Given the description of an element on the screen output the (x, y) to click on. 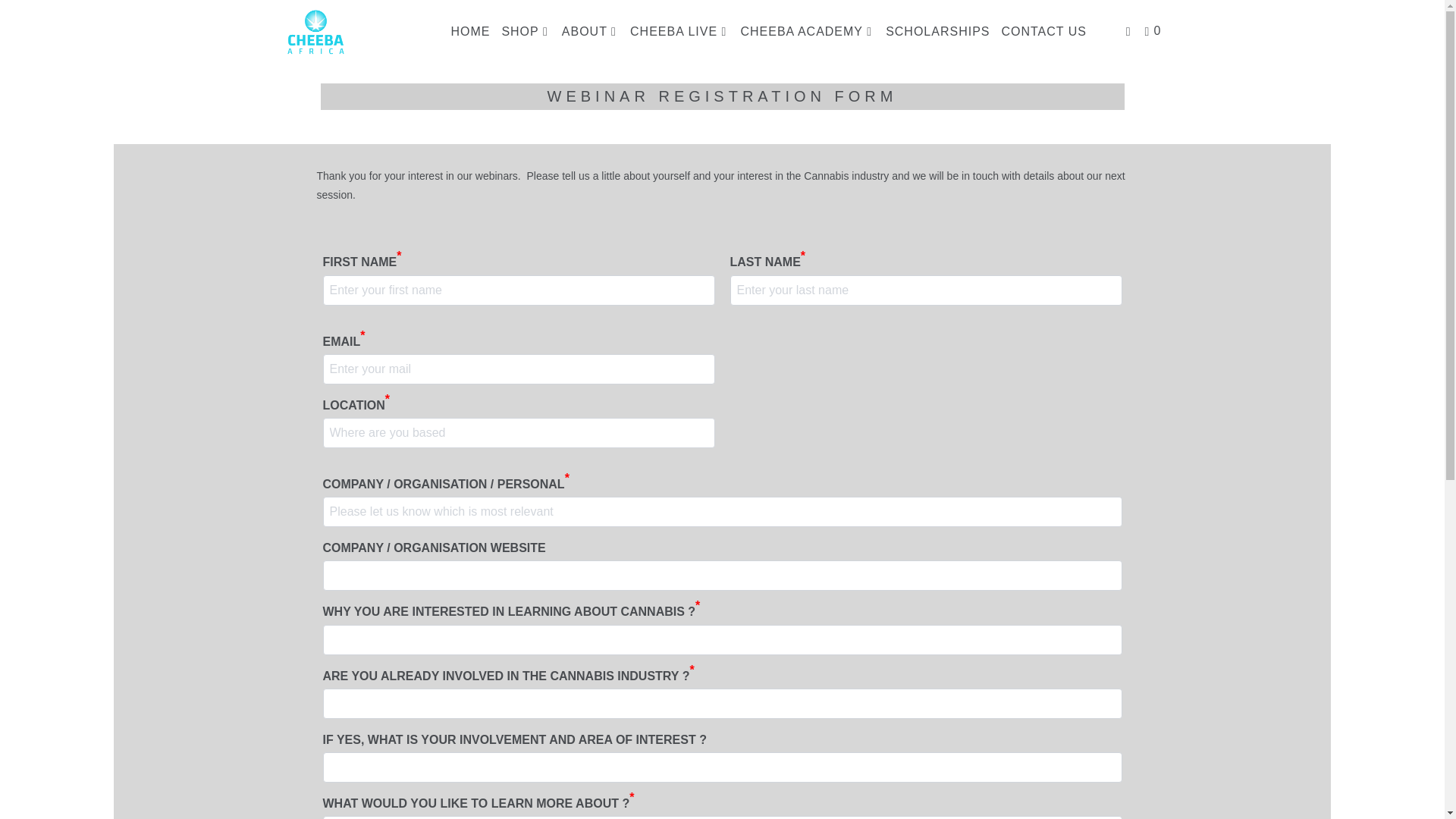
Cheeba Cannabis Academy (352, 31)
My Account  (1129, 31)
